Given the description of an element on the screen output the (x, y) to click on. 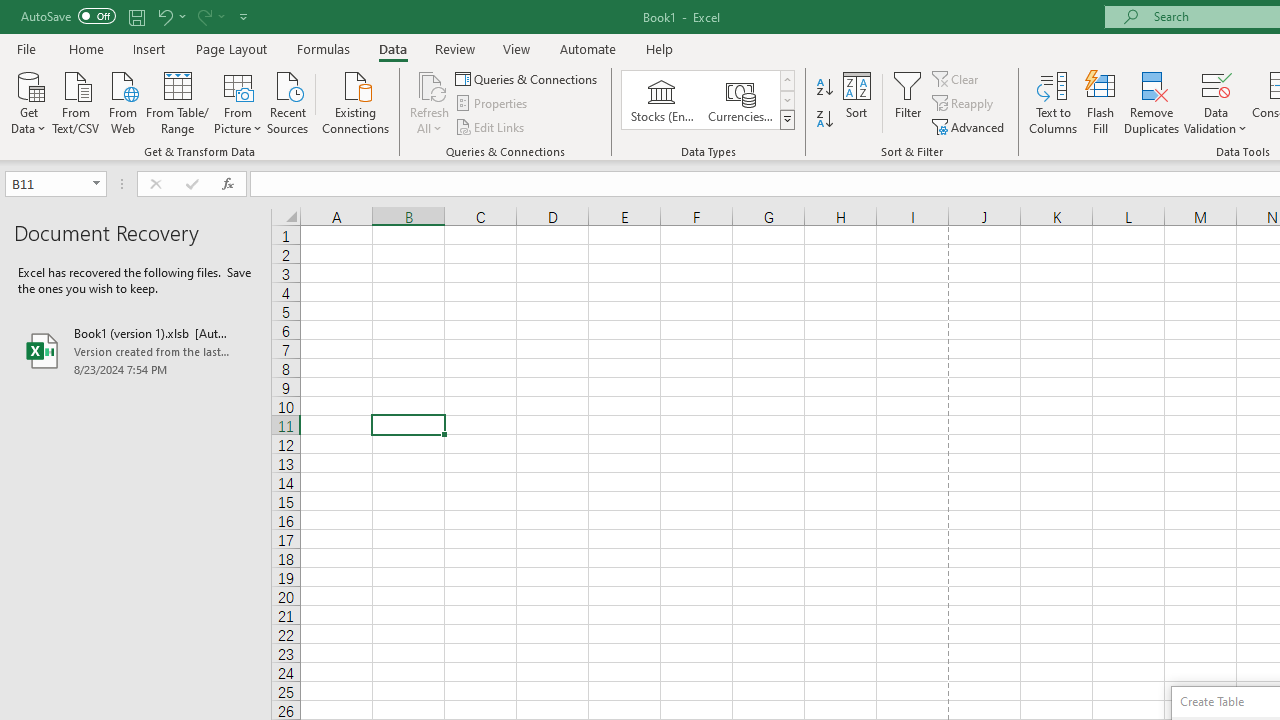
Properties (492, 103)
Book1 (version 1).xlsb  [AutoRecovered] (136, 350)
Refresh All (429, 102)
Flash Fill (1101, 102)
Redo (203, 15)
Page Layout (230, 48)
Undo (170, 15)
Customize Quick Access Toolbar (244, 15)
Home (86, 48)
Clear (957, 78)
AutoSave (68, 16)
Filter (908, 102)
Redo (209, 15)
Name Box (56, 183)
From Web (122, 101)
